Given the description of an element on the screen output the (x, y) to click on. 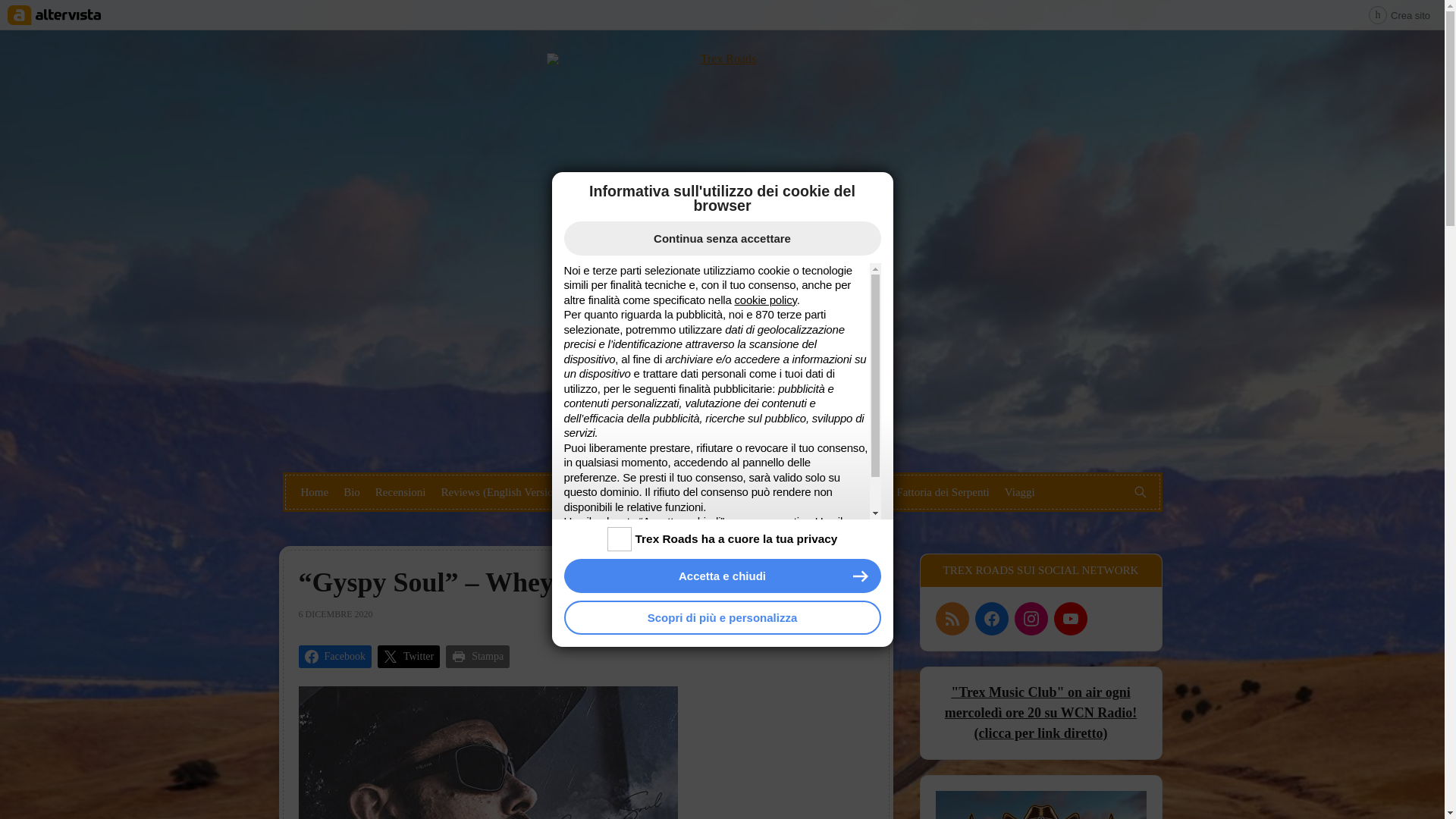
Rss (952, 618)
Youtube (745, 447)
Facebook (334, 656)
Apri un sito gratis con WordPress (1398, 15)
La Fattoria dei Serpenti (936, 491)
Facebook (700, 447)
Facebook (992, 618)
Recensioni (400, 491)
Instagram (722, 447)
Interviste Indipendenti (692, 491)
Instagram (1031, 618)
Viaggi (1019, 491)
Independent Interviews (813, 491)
YouTube (1070, 618)
Bio (352, 491)
